Given the description of an element on the screen output the (x, y) to click on. 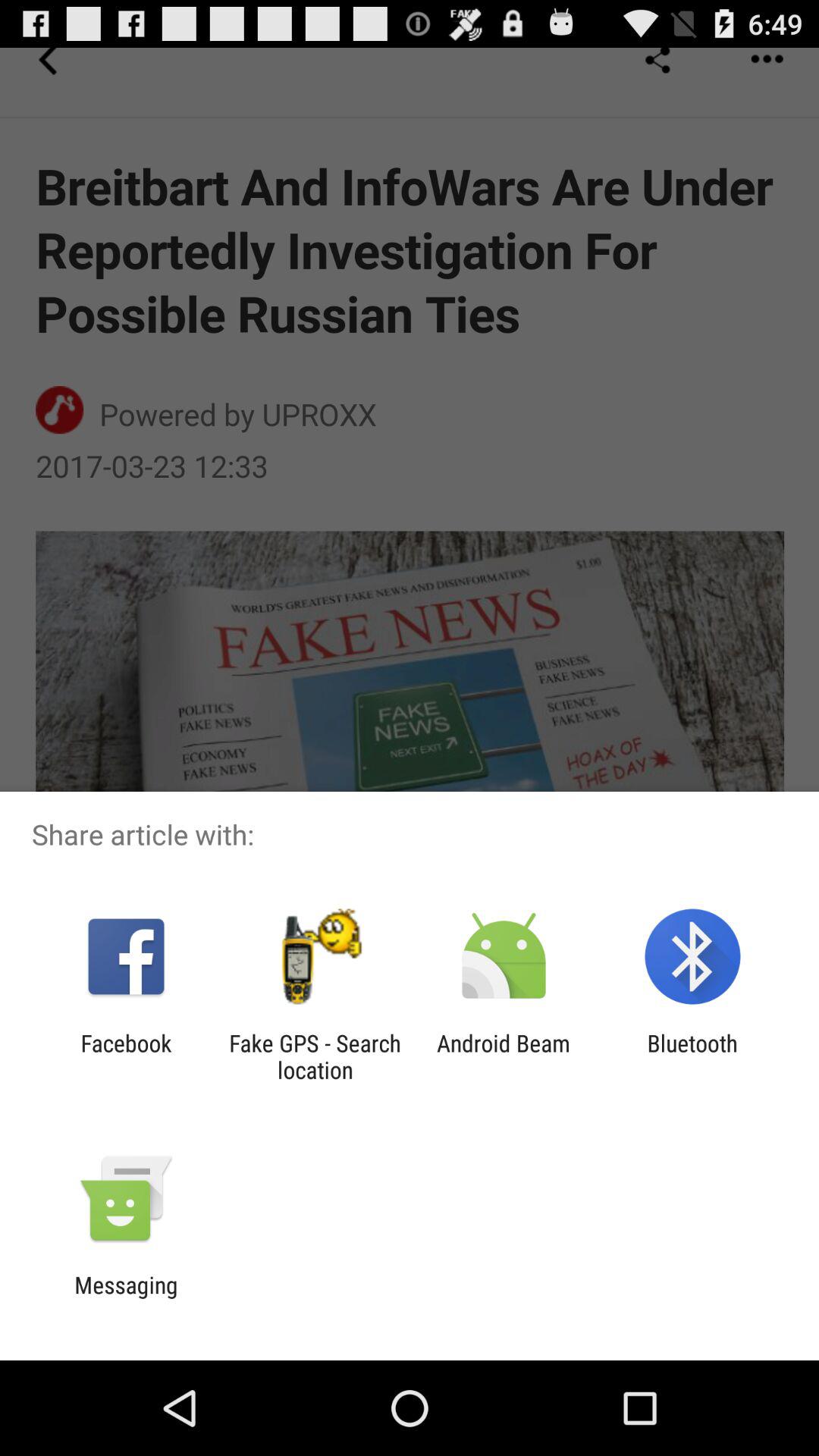
click the icon to the right of the fake gps search app (503, 1056)
